Given the description of an element on the screen output the (x, y) to click on. 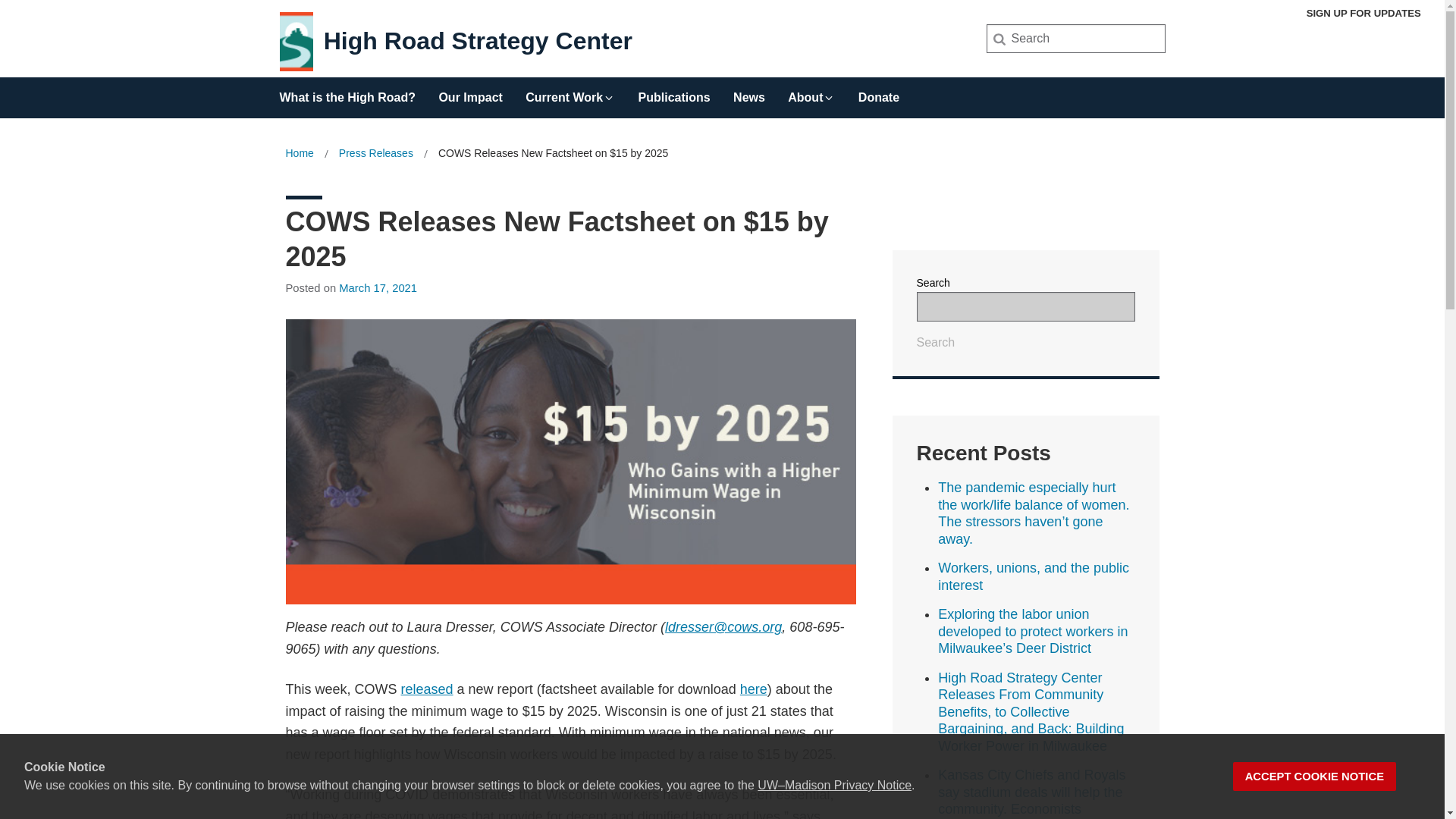
March 17, 2021 (377, 287)
Current Work Expand (569, 92)
Home (299, 153)
What is the High Road? (346, 92)
released (426, 688)
Publications (674, 92)
Skip to main content (3, 3)
Expand (828, 97)
Home (299, 153)
SIGN UP FOR UPDATES (1363, 13)
